Given the description of an element on the screen output the (x, y) to click on. 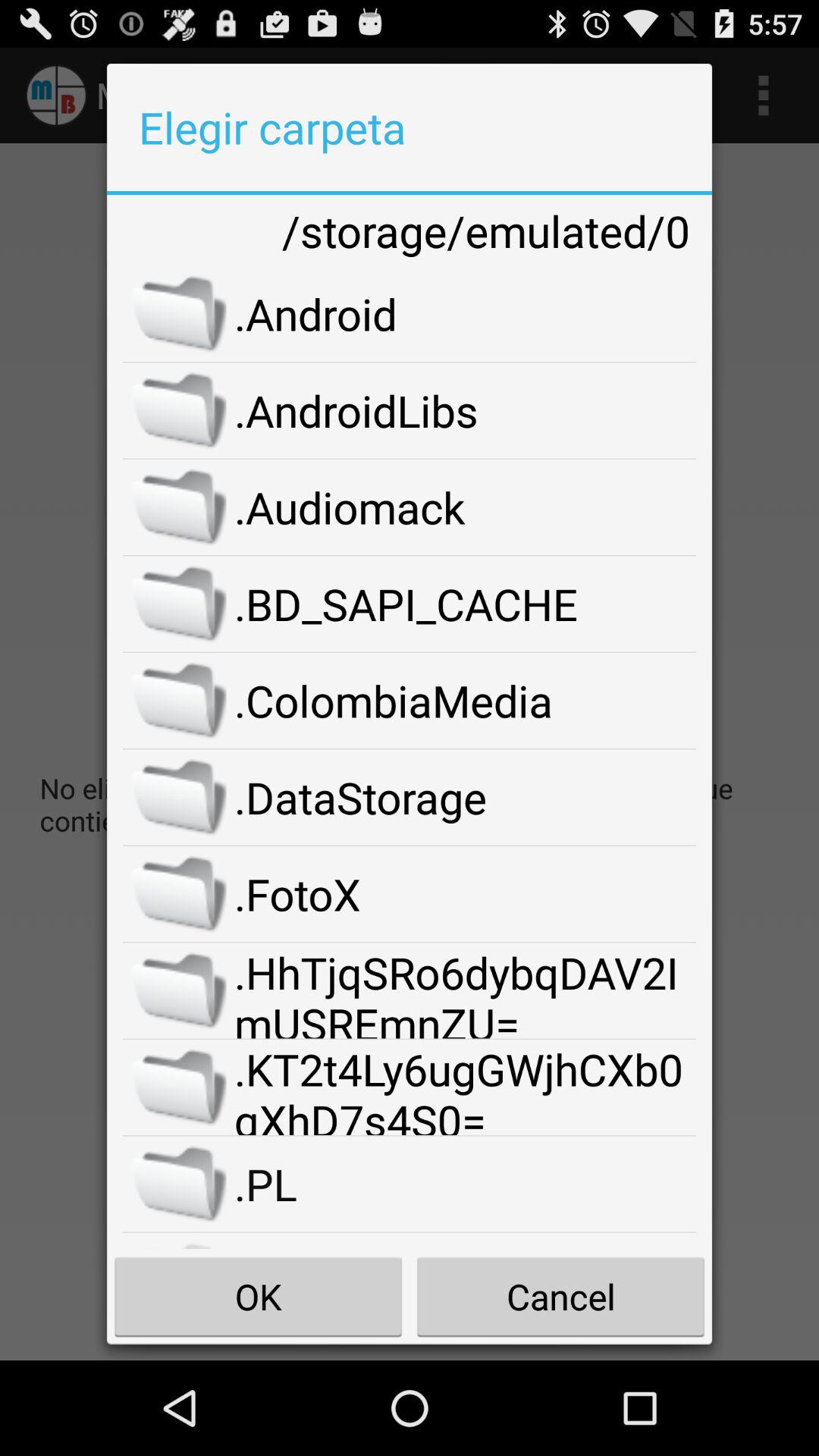
scroll until .fotox item (465, 893)
